Given the description of an element on the screen output the (x, y) to click on. 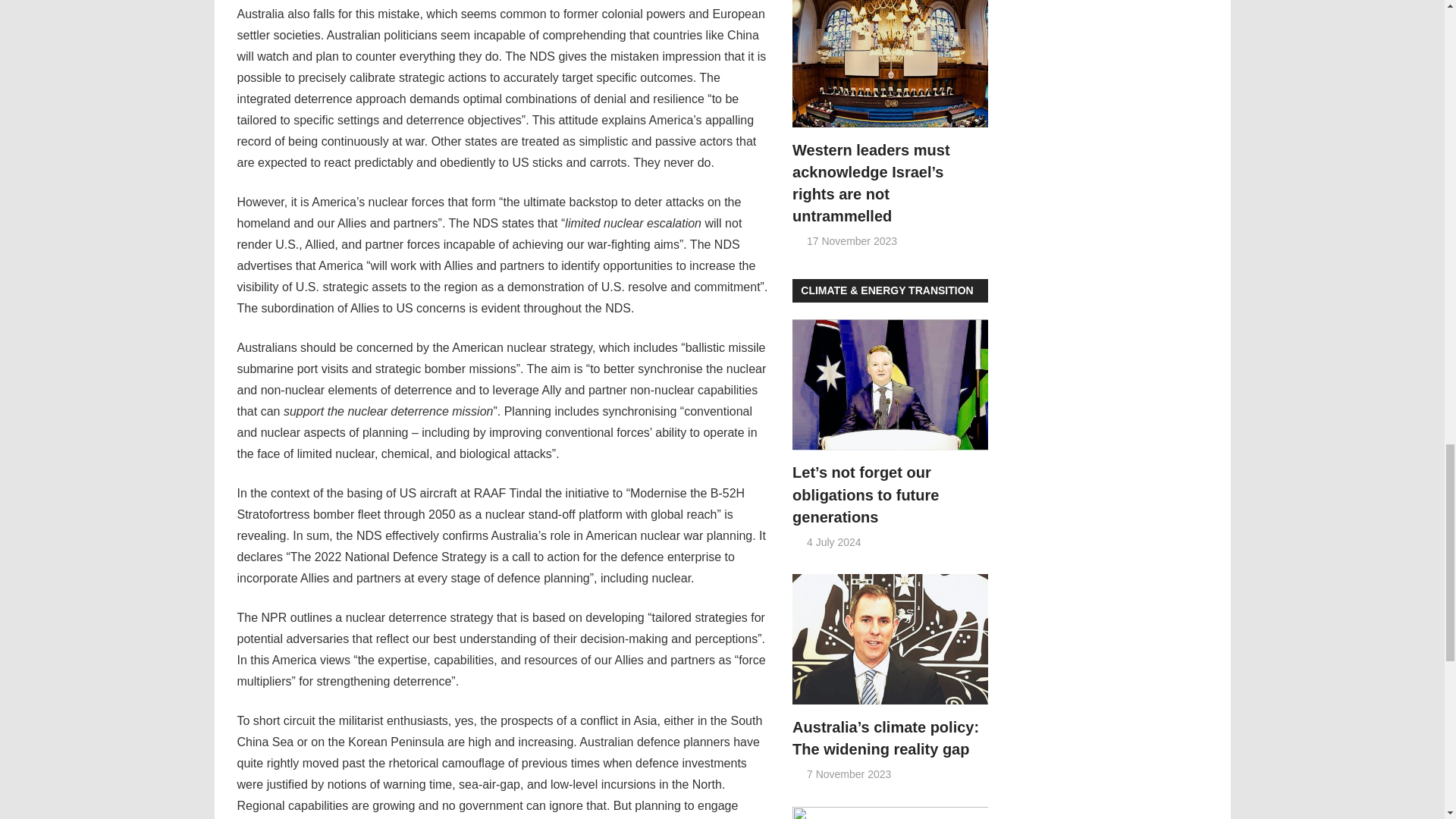
10:41 pm (833, 541)
12:21 am (851, 241)
2:23 pm (848, 774)
View all posts from category Climate crisis (886, 290)
